Given the description of an element on the screen output the (x, y) to click on. 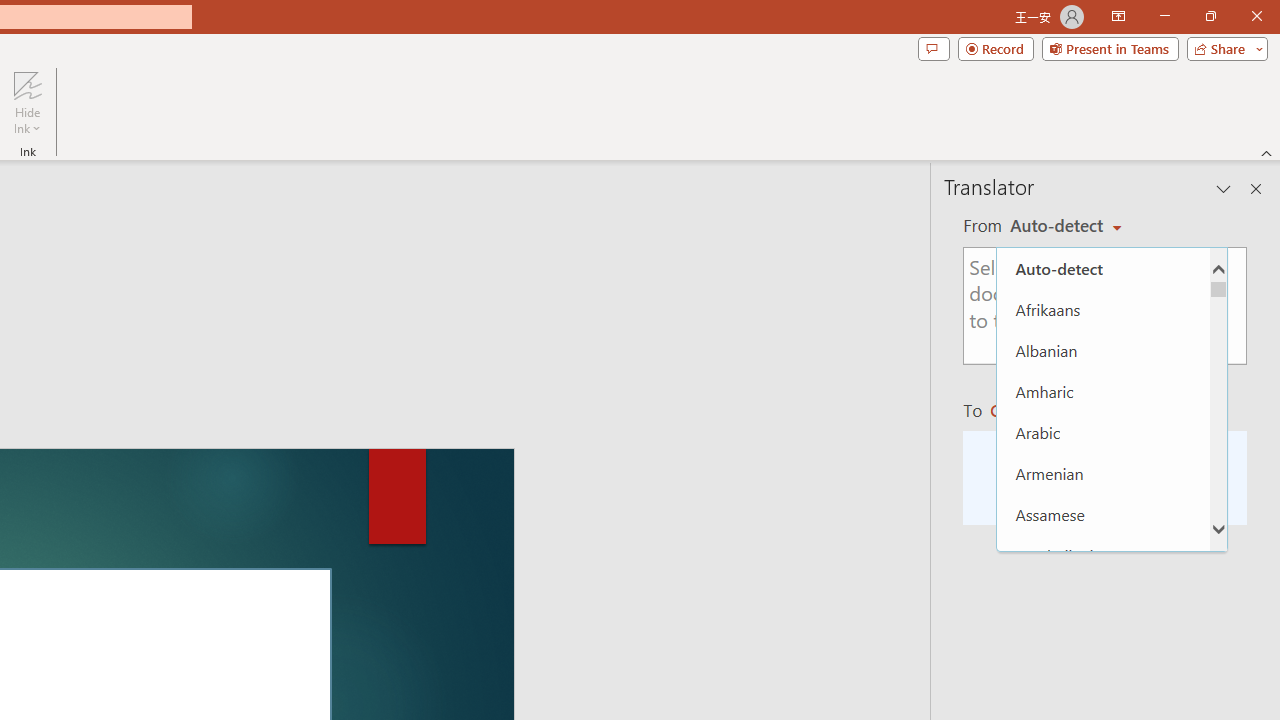
Afrikaans (1103, 308)
